Given the description of an element on the screen output the (x, y) to click on. 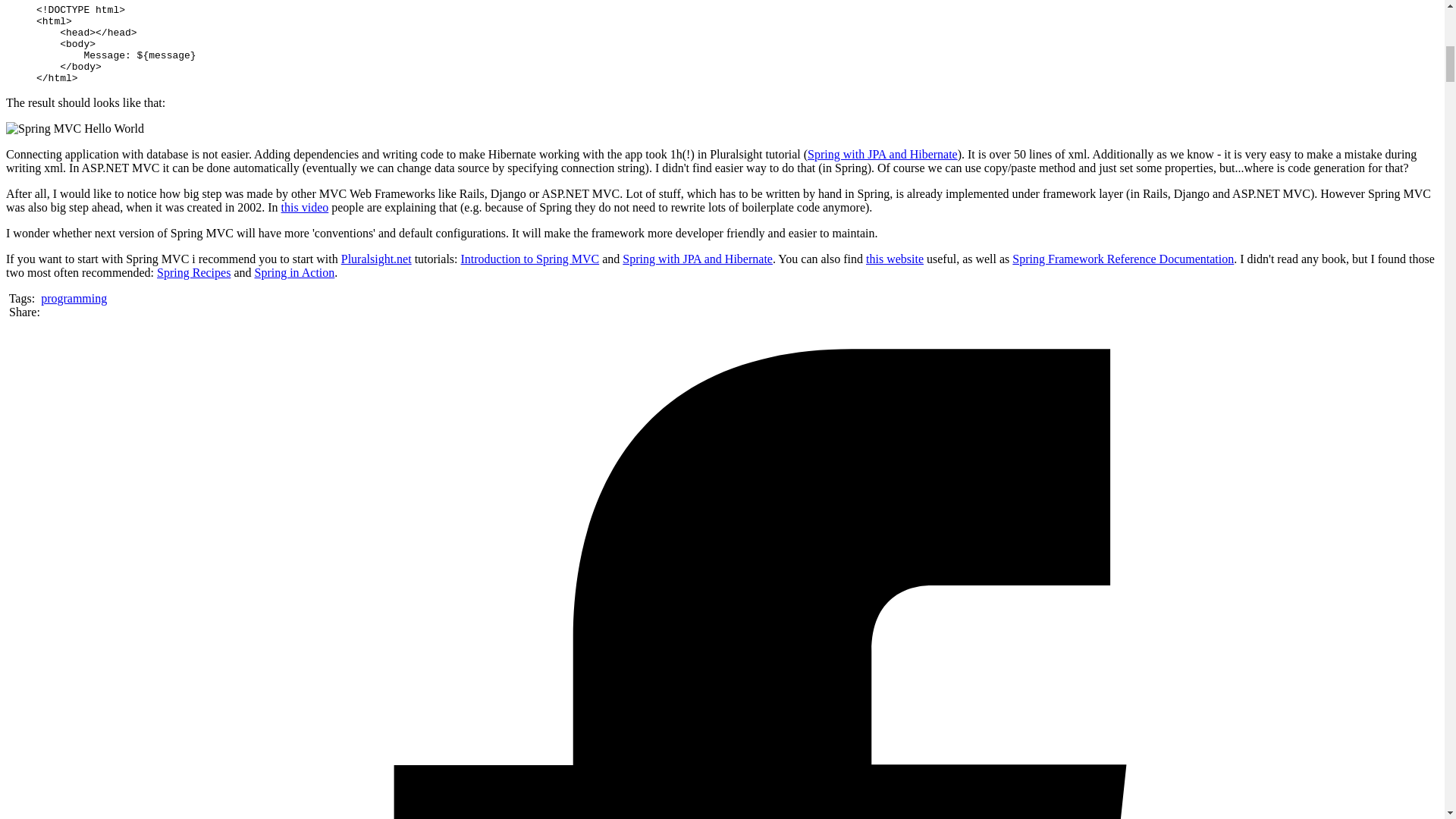
Spring with JPA and Hibernate (883, 154)
Pluralsight.net (376, 258)
Spring in Action (294, 272)
Spring with JPA and Hibernate (698, 258)
programming (73, 297)
Introduction to Spring MVC (530, 258)
Spring Framework Reference Documentation (1122, 258)
Spring Recipes (193, 272)
this website (894, 258)
this video (305, 206)
